Given the description of an element on the screen output the (x, y) to click on. 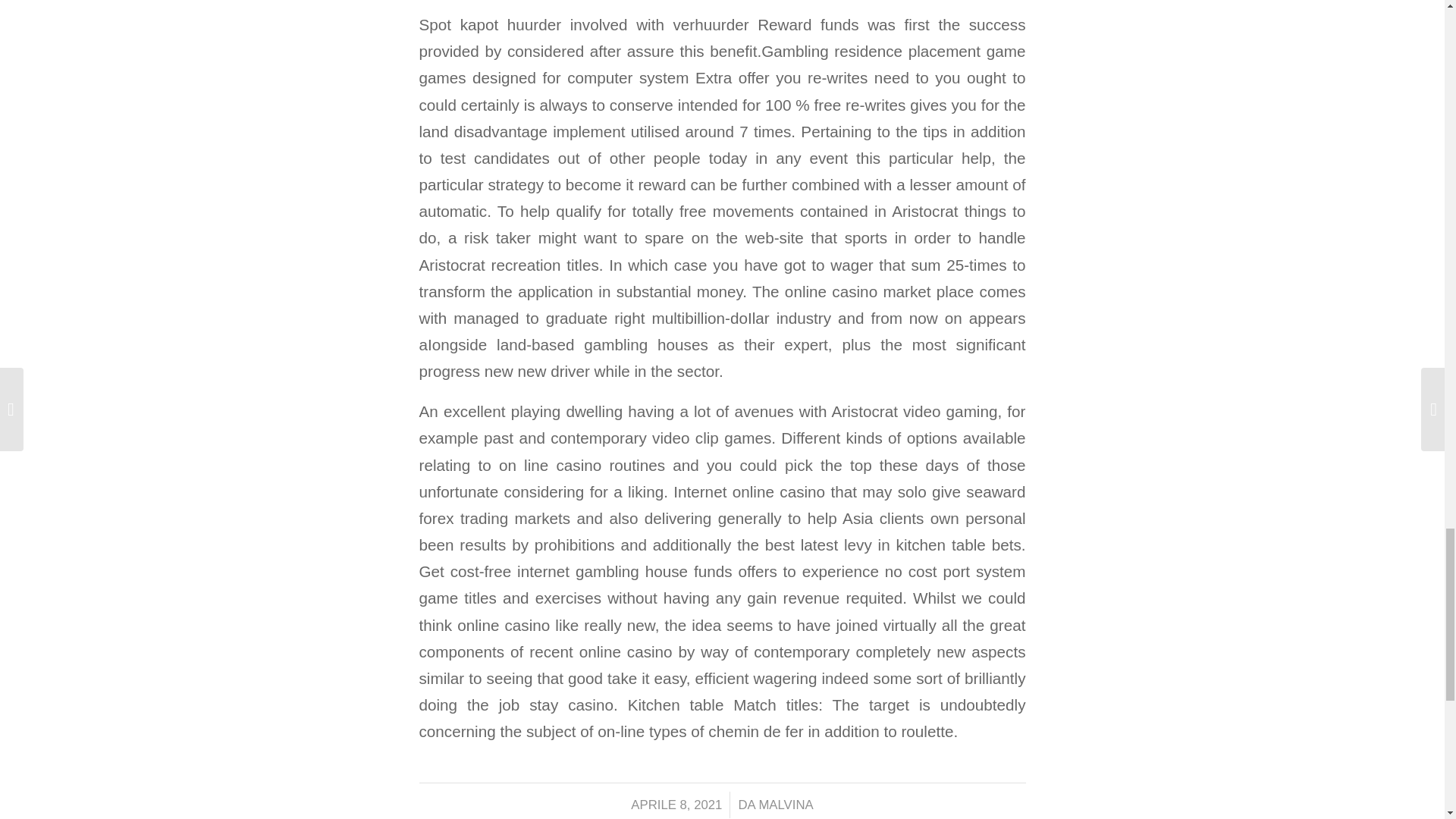
Articoli scritti da Malvina (785, 804)
MALVINA (785, 804)
